Given the description of an element on the screen output the (x, y) to click on. 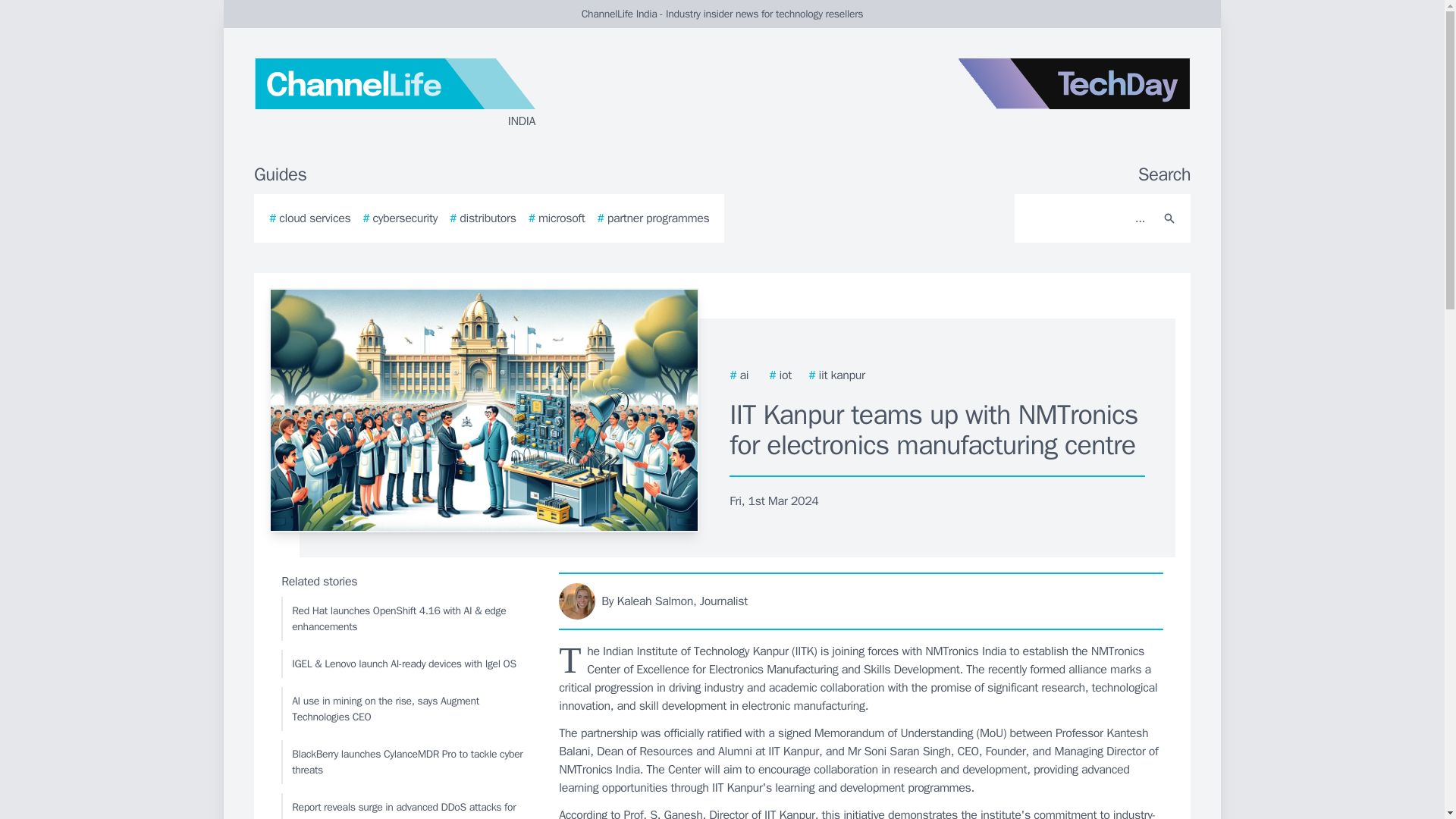
Report reveals surge in advanced DDoS attacks for 2024 (406, 806)
AI use in mining on the rise, says Augment Technologies CEO (406, 709)
By Kaleah Salmon, Journalist (861, 601)
INDIA (435, 94)
BlackBerry launches CylanceMDR Pro to tackle cyber threats (406, 761)
